Given the description of an element on the screen output the (x, y) to click on. 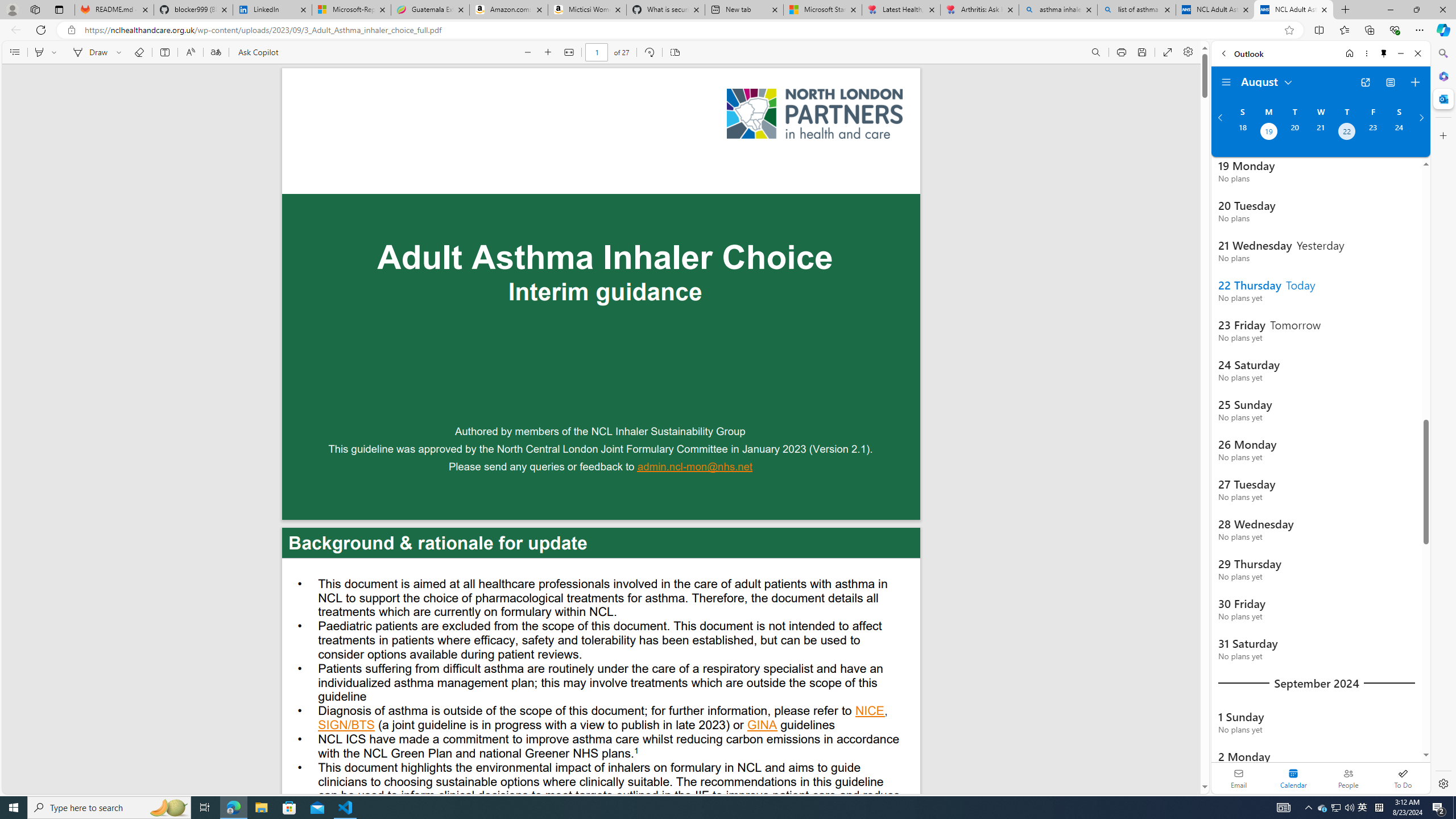
Folder navigation (1225, 82)
Thursday, August 22, 2024. Today.  (1346, 132)
list of asthma inhalers uk - Search (1136, 9)
Selected calendar module. Date today is 22 (1293, 777)
Unpin side pane (1383, 53)
Select a highlight color (56, 52)
Arthritis: Ask Health Professionals (979, 9)
